Given the description of an element on the screen output the (x, y) to click on. 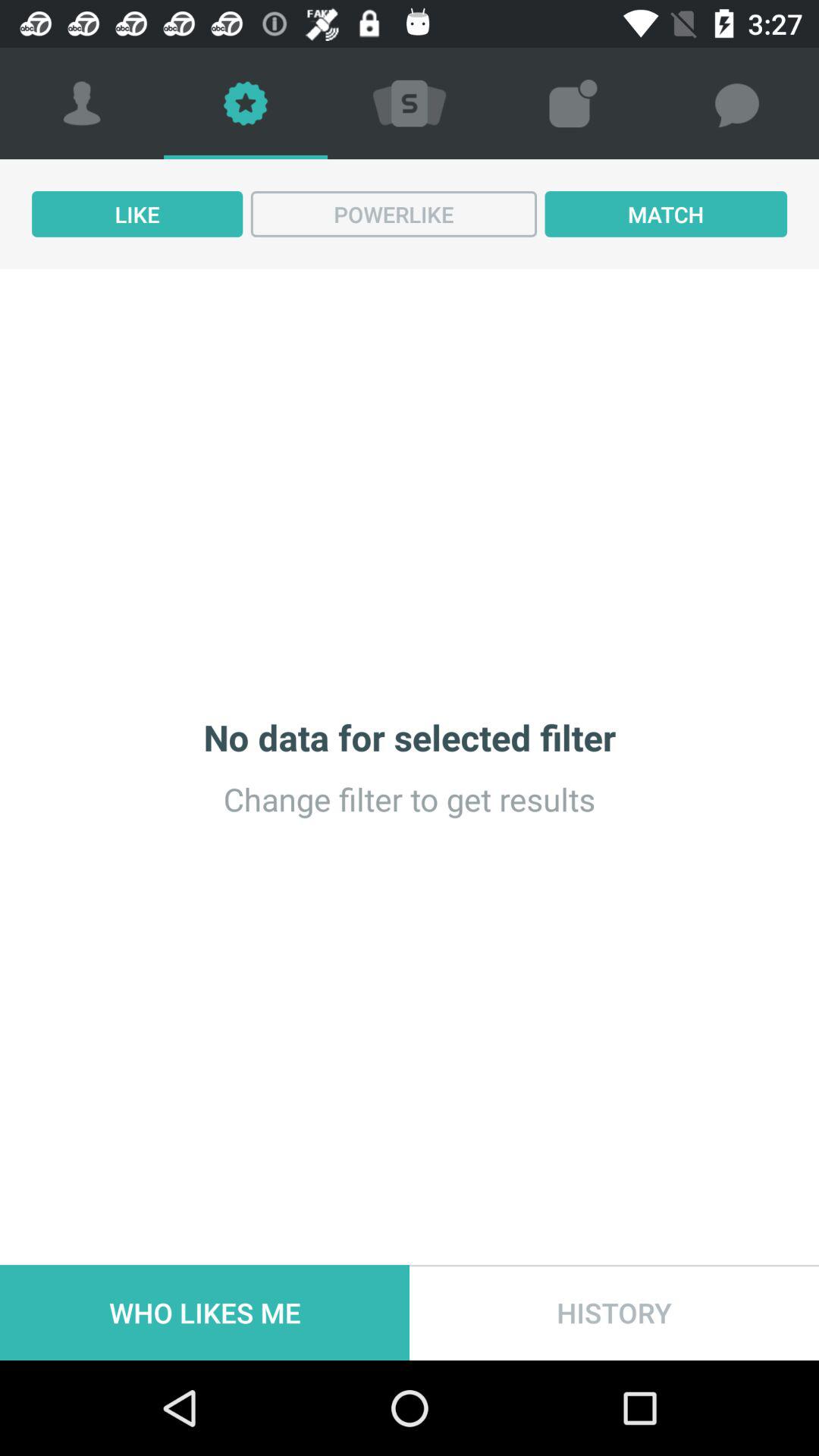
tap item at the bottom left corner (204, 1312)
